Given the description of an element on the screen output the (x, y) to click on. 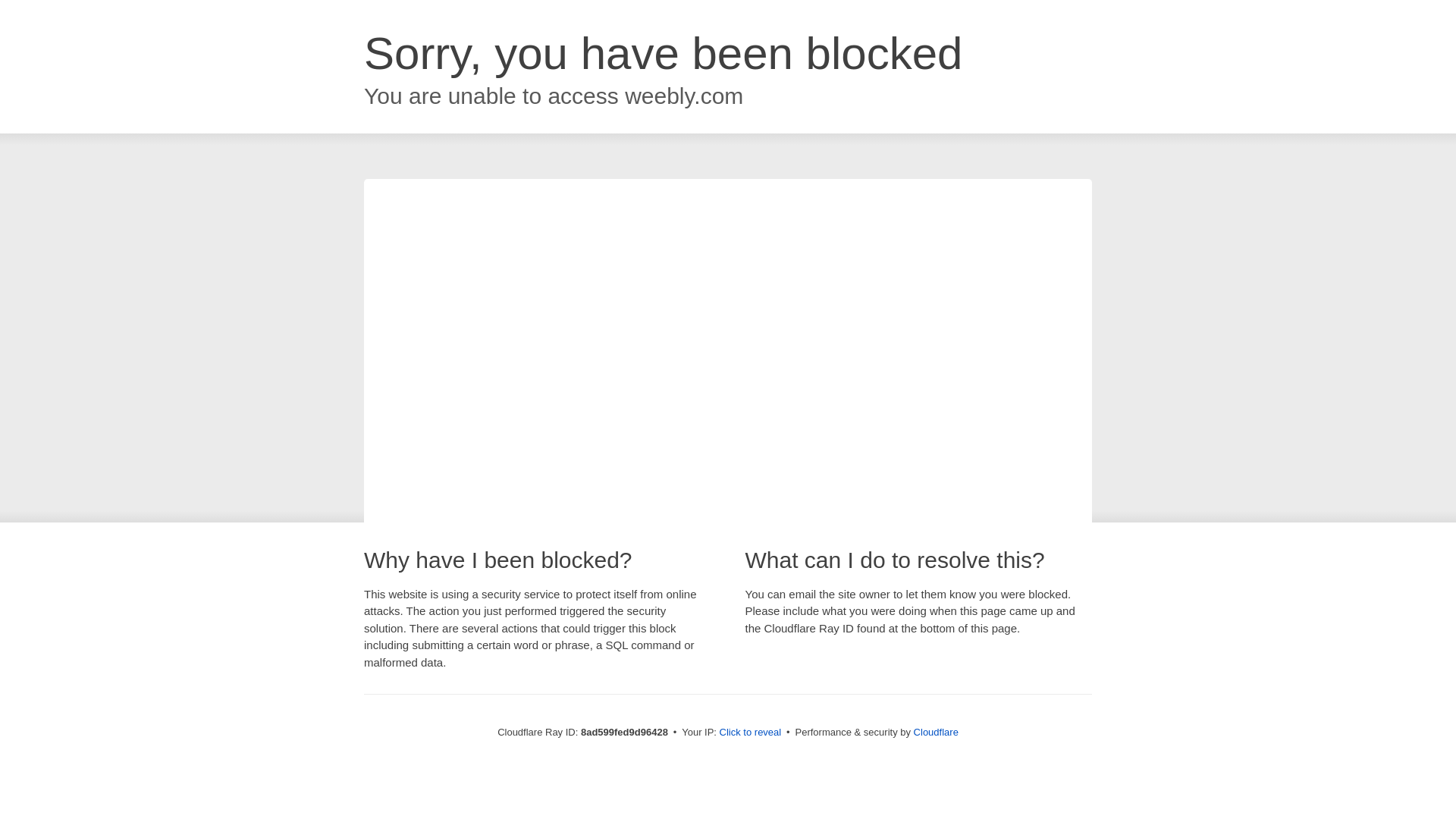
Cloudflare (936, 731)
Click to reveal (750, 732)
